Given the description of an element on the screen output the (x, y) to click on. 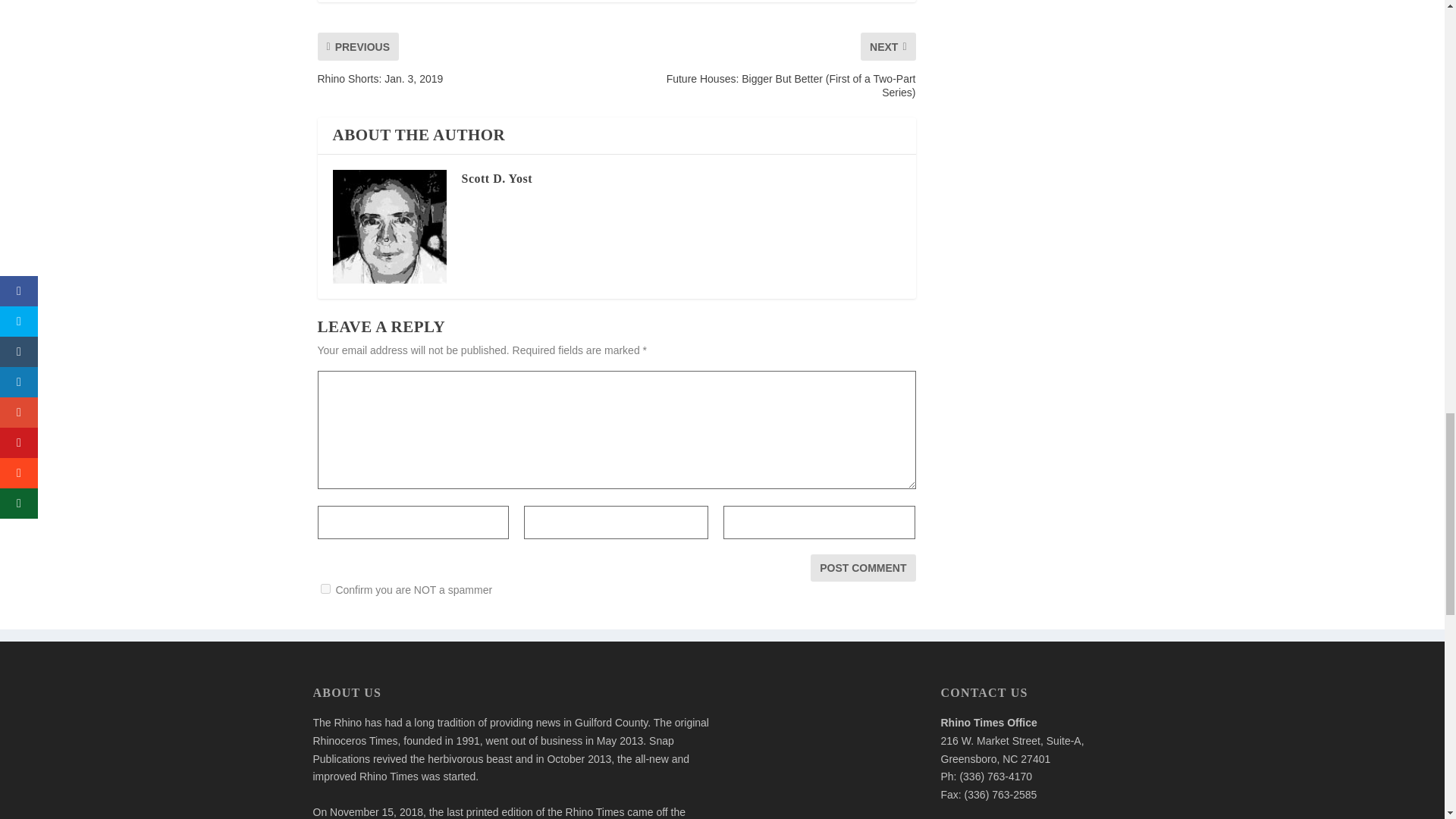
on (325, 588)
Post Comment (862, 567)
Advertisement (825, 753)
View all posts by Scott D. Yost (496, 178)
